Given the description of an element on the screen output the (x, y) to click on. 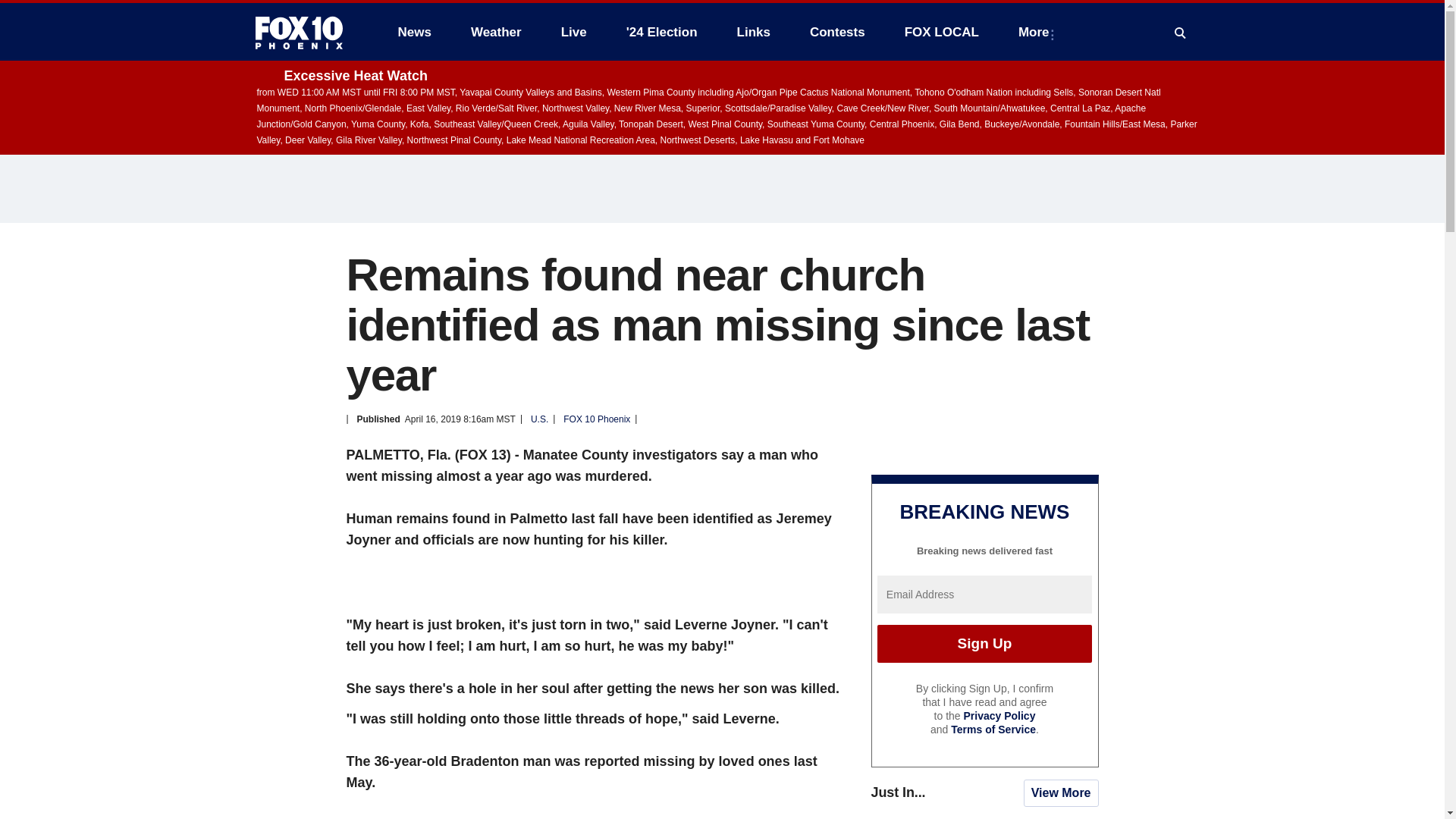
Contests (837, 32)
FOX LOCAL (941, 32)
Live (573, 32)
Weather (496, 32)
News (413, 32)
'24 Election (662, 32)
Links (754, 32)
More (1036, 32)
Sign Up (984, 643)
